Given the description of an element on the screen output the (x, y) to click on. 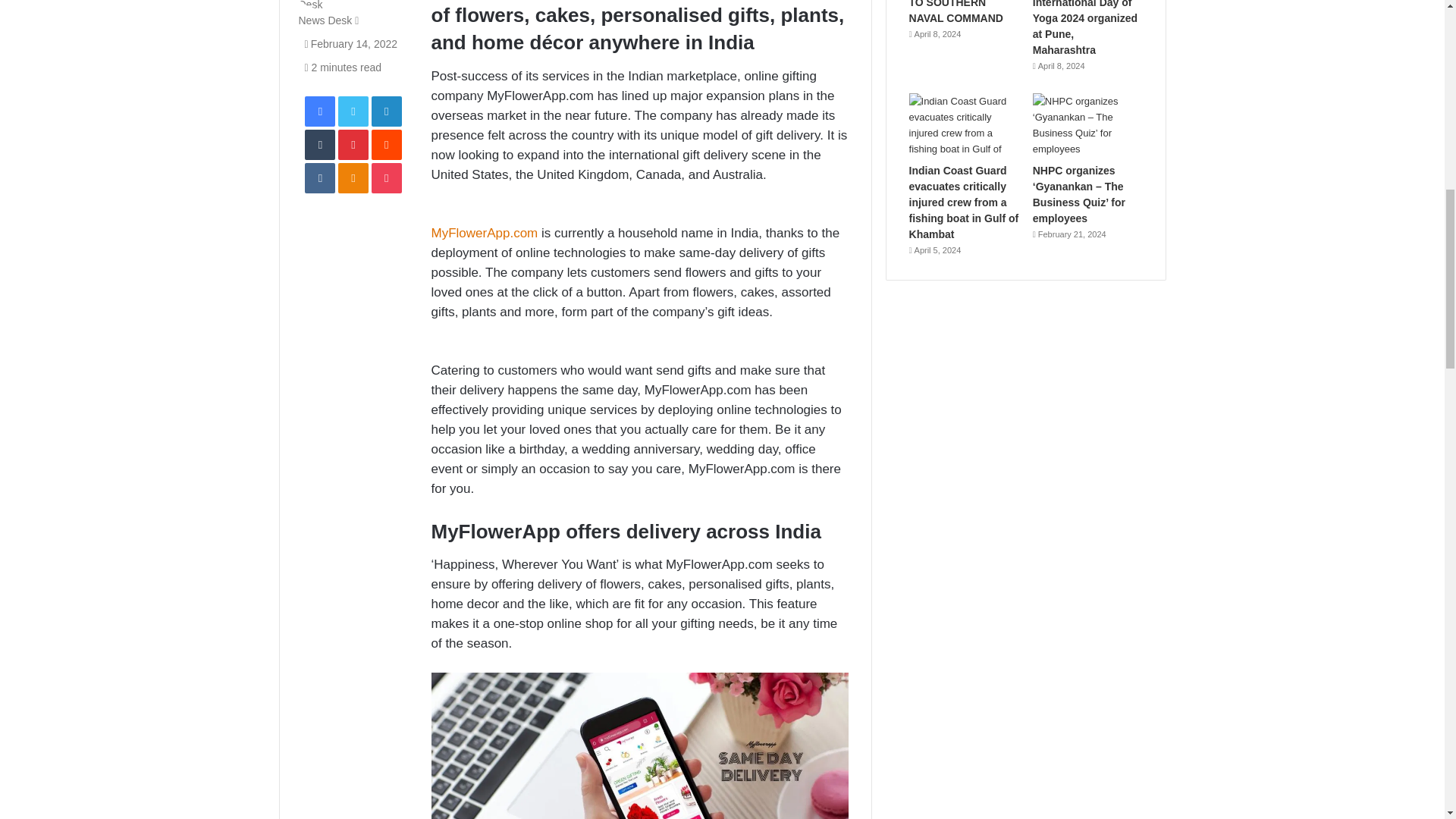
Pinterest (352, 144)
News Desk (325, 20)
Facebook (319, 111)
Reddit (386, 144)
News Desk (325, 20)
VKontakte (319, 177)
Twitter (352, 111)
Tumblr (319, 144)
Facebook (319, 111)
MyFlowerApp.com (485, 233)
